Given the description of an element on the screen output the (x, y) to click on. 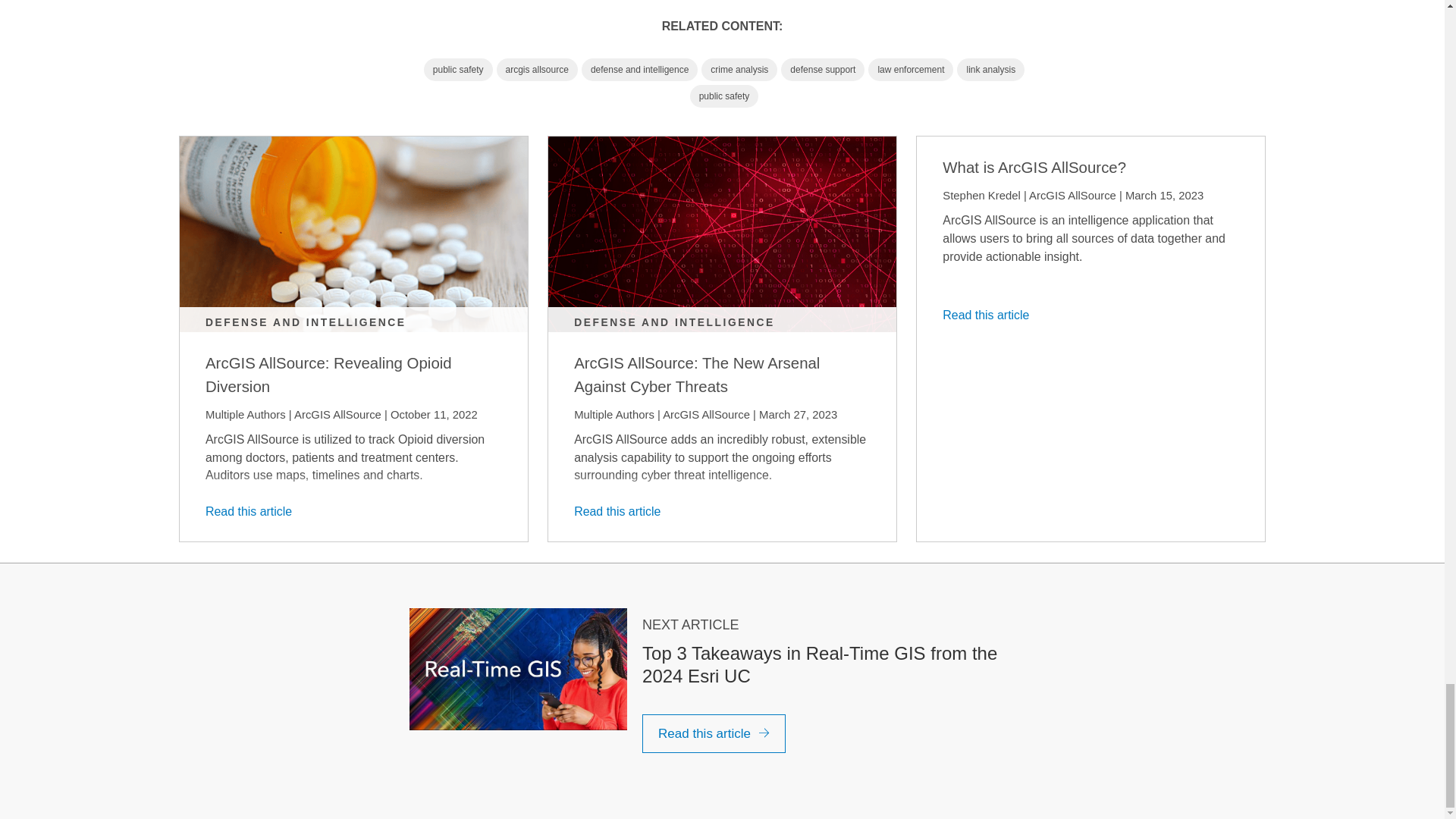
arcgis allsource (537, 69)
defense and intelligence (638, 69)
defense support (822, 69)
public safety (458, 69)
Read this article (253, 511)
public safety (724, 96)
law enforcement (910, 69)
crime analysis (739, 69)
ArcGIS AllSource (337, 414)
Multiple Authors (613, 414)
